Given the description of an element on the screen output the (x, y) to click on. 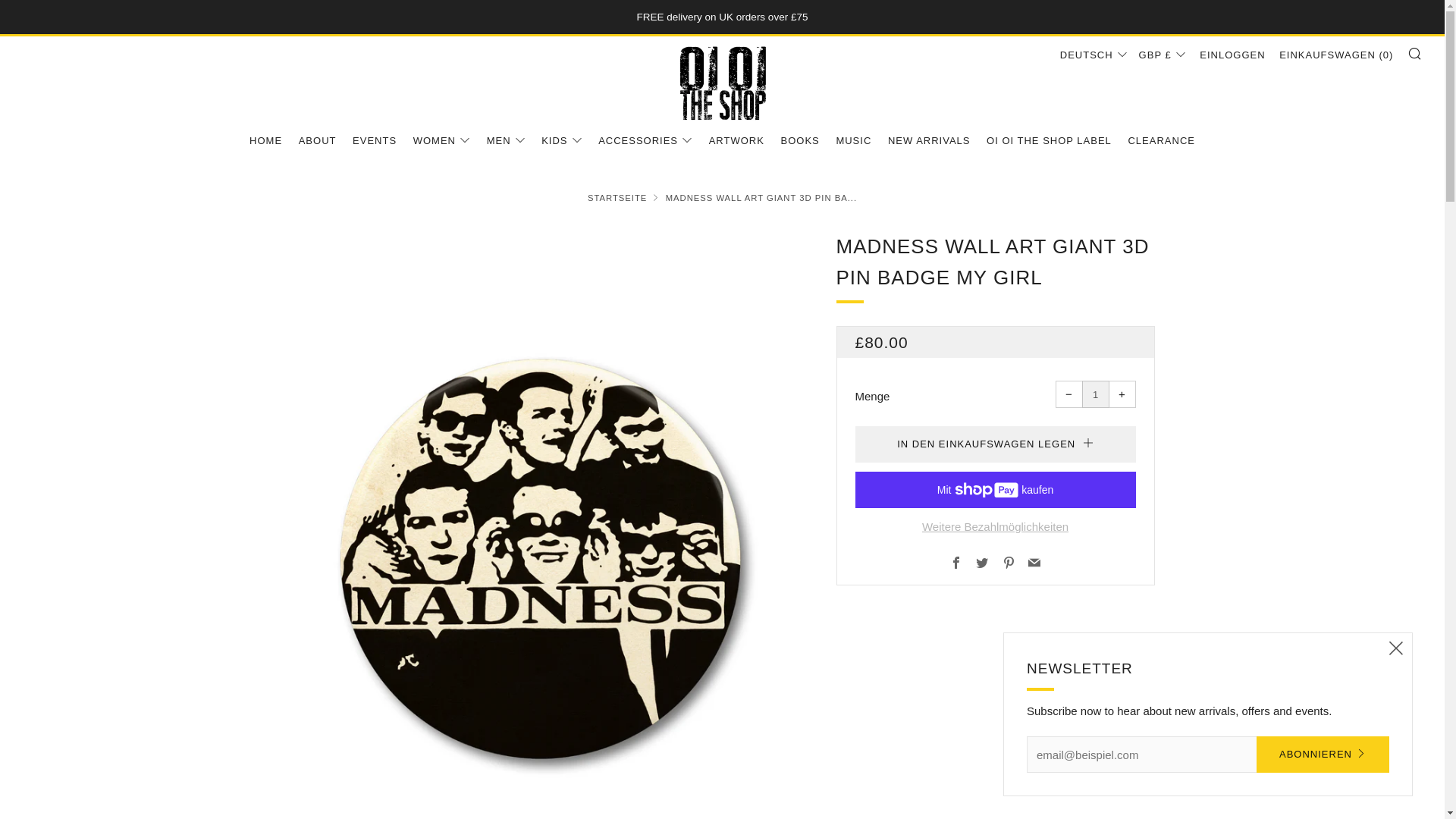
Startseite (617, 197)
1 (1094, 393)
